Given the description of an element on the screen output the (x, y) to click on. 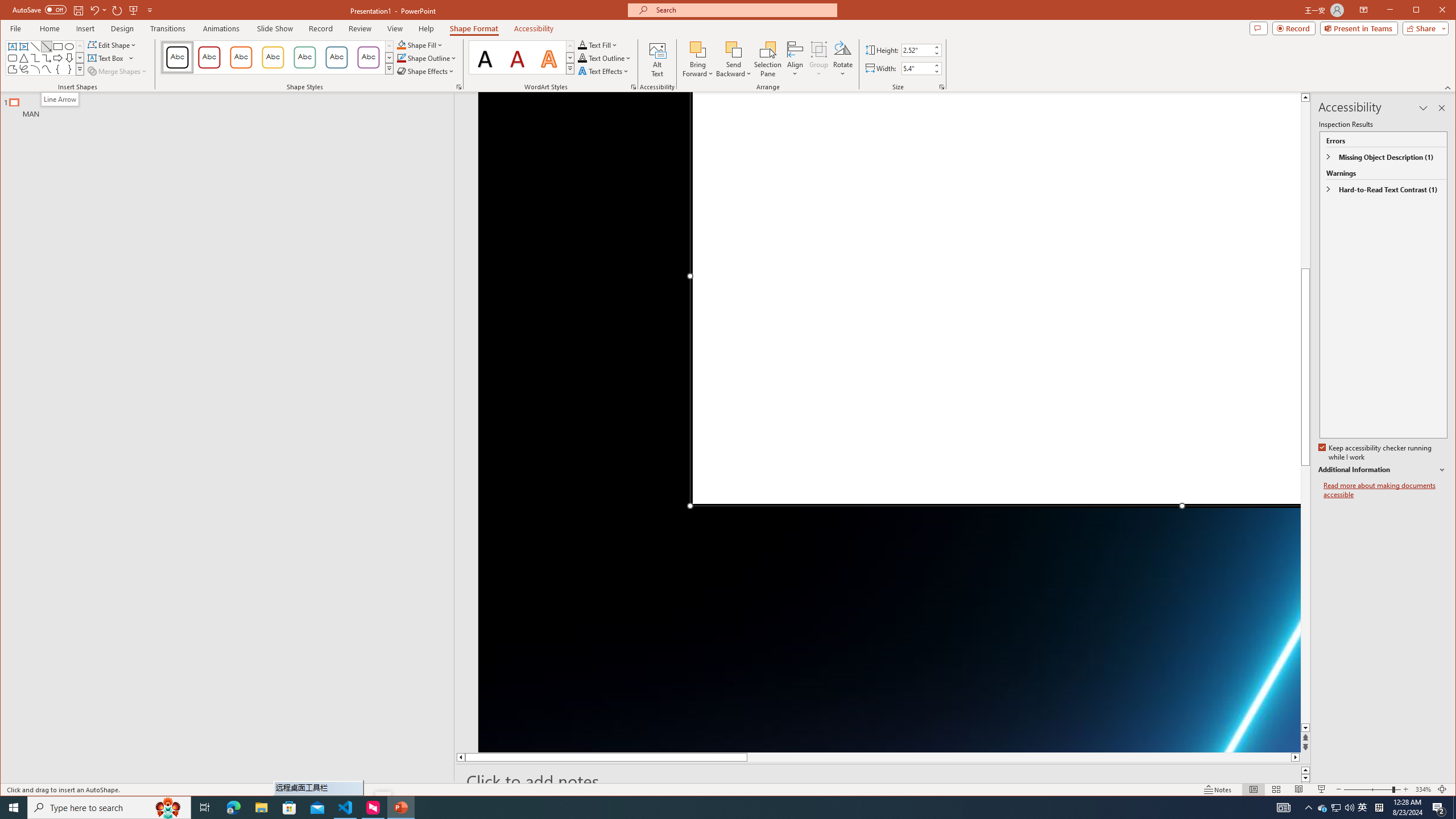
Selection Pane... (767, 59)
Text Outline RGB(0, 0, 0) (582, 57)
Text Outline (604, 57)
Colored Outline - Blue-Gray, Accent 5 (336, 57)
